Given the description of an element on the screen output the (x, y) to click on. 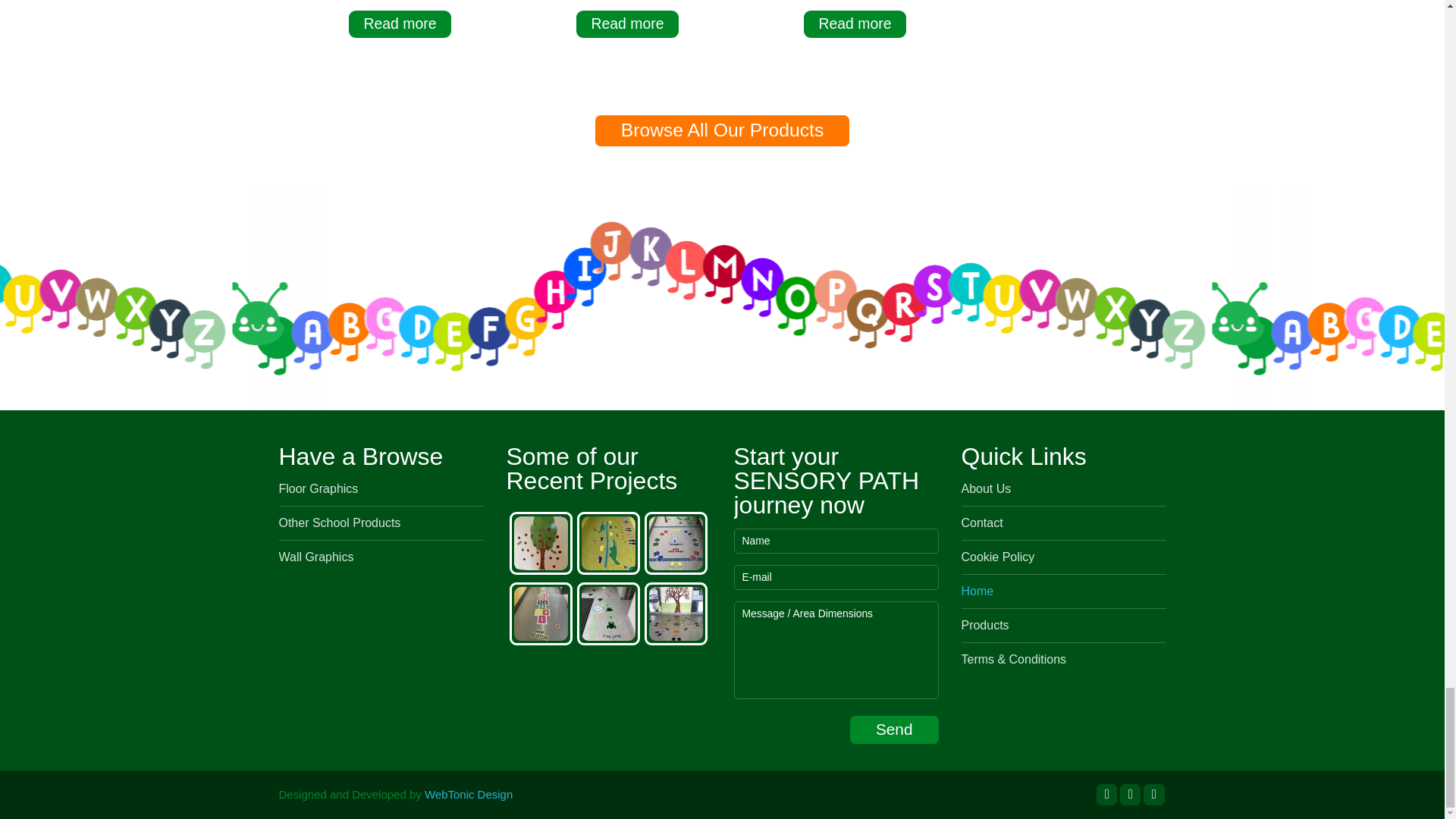
Facebook (1129, 793)
Floor Graphics (318, 488)
Read more (627, 23)
Email (1152, 793)
Instagram (1106, 793)
Browse All Our Products (722, 130)
Frog Jump (854, 1)
Send (894, 729)
Read more (855, 23)
Colourful Numbers (399, 1)
